Given the description of an element on the screen output the (x, y) to click on. 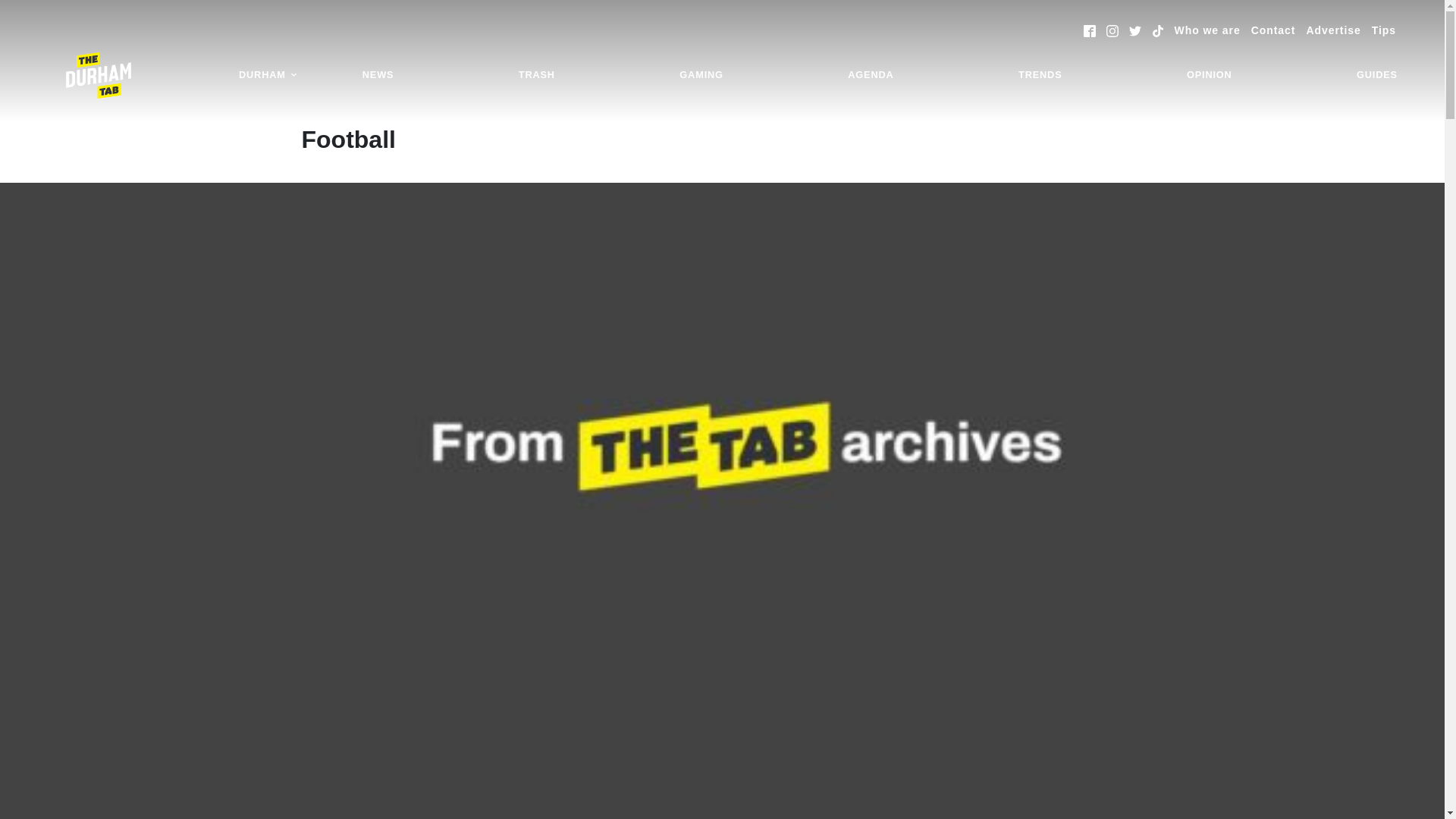
NEWS (378, 75)
AGENDA (869, 75)
TRENDS (1040, 75)
Contact (1272, 29)
Advertise (1332, 29)
OPINION (1208, 75)
GUIDES (1377, 75)
Tips (1383, 29)
GAMING (700, 75)
DURHAM (267, 75)
